Given the description of an element on the screen output the (x, y) to click on. 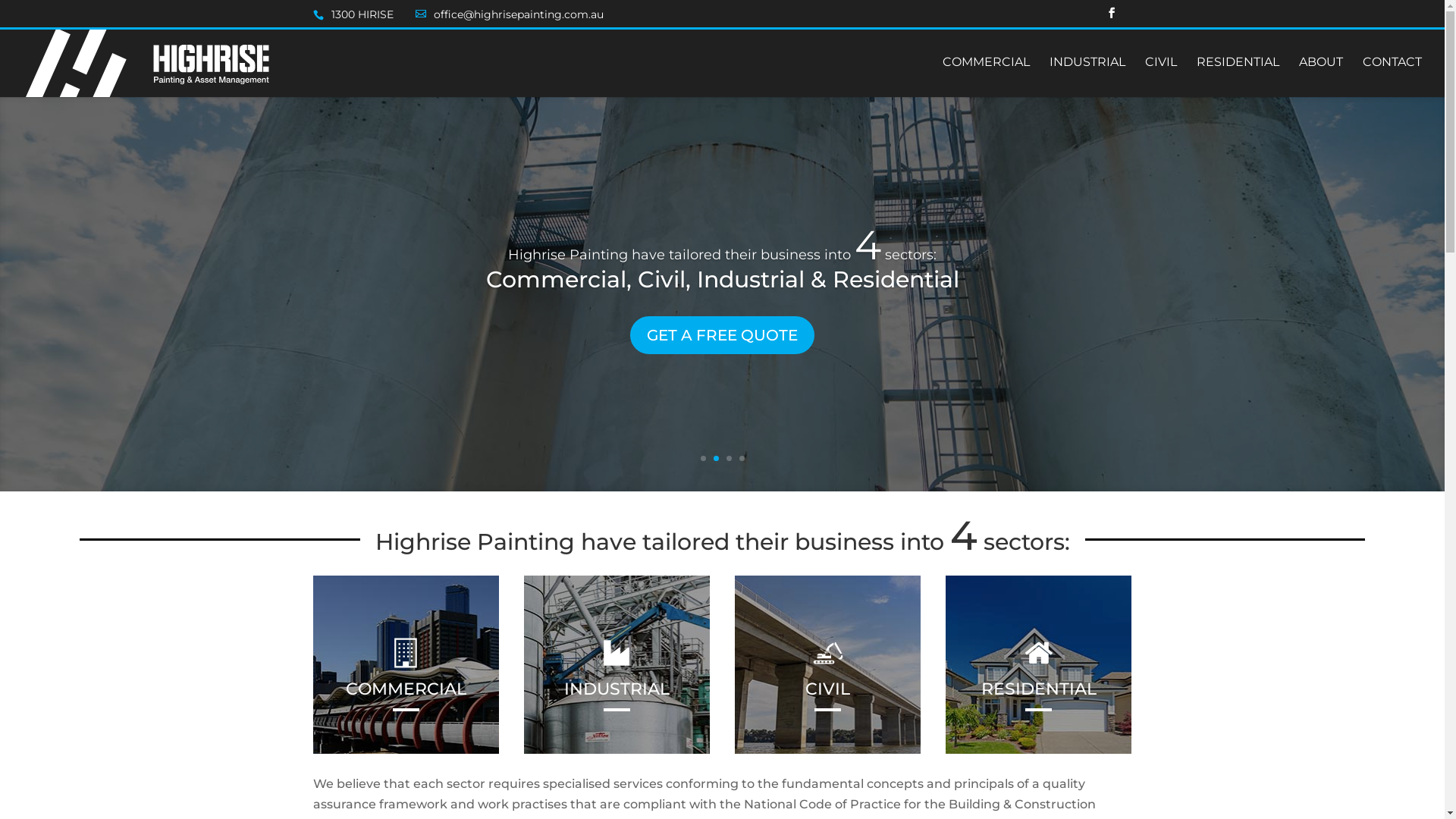
CONTACT Element type: text (1391, 76)
CIVIL Element type: text (1160, 76)
3 Element type: text (728, 458)
CIVIL Element type: text (827, 688)
RESIDENTIAL Element type: text (1038, 688)
ABOUT Element type: text (1321, 76)
2 Element type: text (715, 458)
1 Element type: text (703, 458)
1300 HIRISE Element type: text (361, 14)
4 Element type: text (740, 458)
INDUSTRIAL Element type: text (616, 688)
COMMERCIAL Element type: text (405, 688)
COMMERCIAL Element type: text (985, 76)
office@highrisepainting.com.au Element type: text (518, 14)
RESIDENTIAL Element type: text (1237, 76)
GET A FREE QUOTE Element type: text (722, 335)
INDUSTRIAL Element type: text (1087, 76)
